Given the description of an element on the screen output the (x, y) to click on. 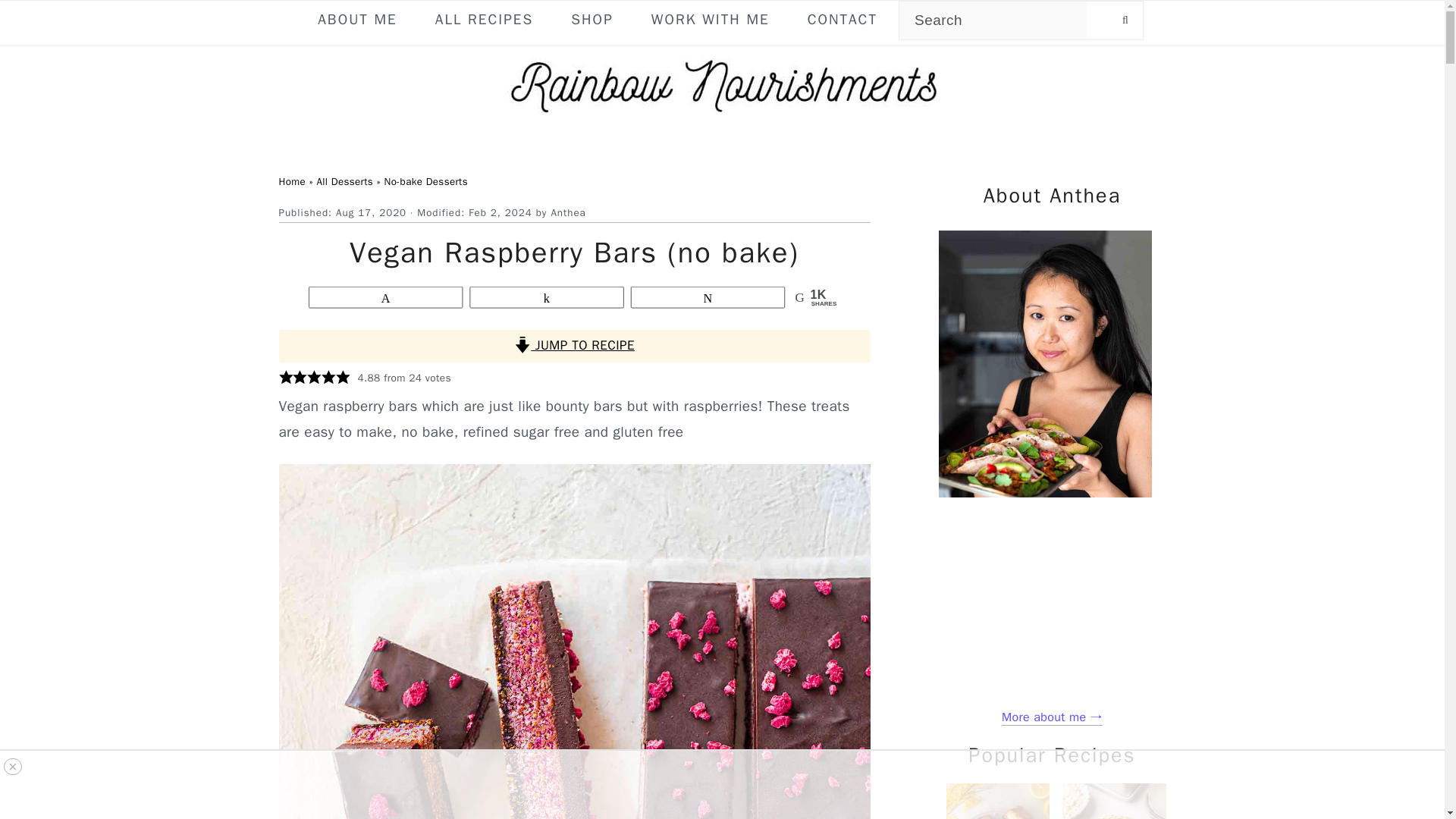
Rainbow Nourishments (721, 112)
Rainbow Nourishments (721, 85)
ABOUT ME (356, 19)
Anthea (567, 212)
All Desserts (343, 181)
WORK WITH ME (710, 19)
SHOP (591, 19)
Home (292, 181)
JUMP TO RECIPE (574, 346)
ALL RECIPES (483, 19)
No-bake Desserts (425, 181)
CONTACT (842, 19)
